Given the description of an element on the screen output the (x, y) to click on. 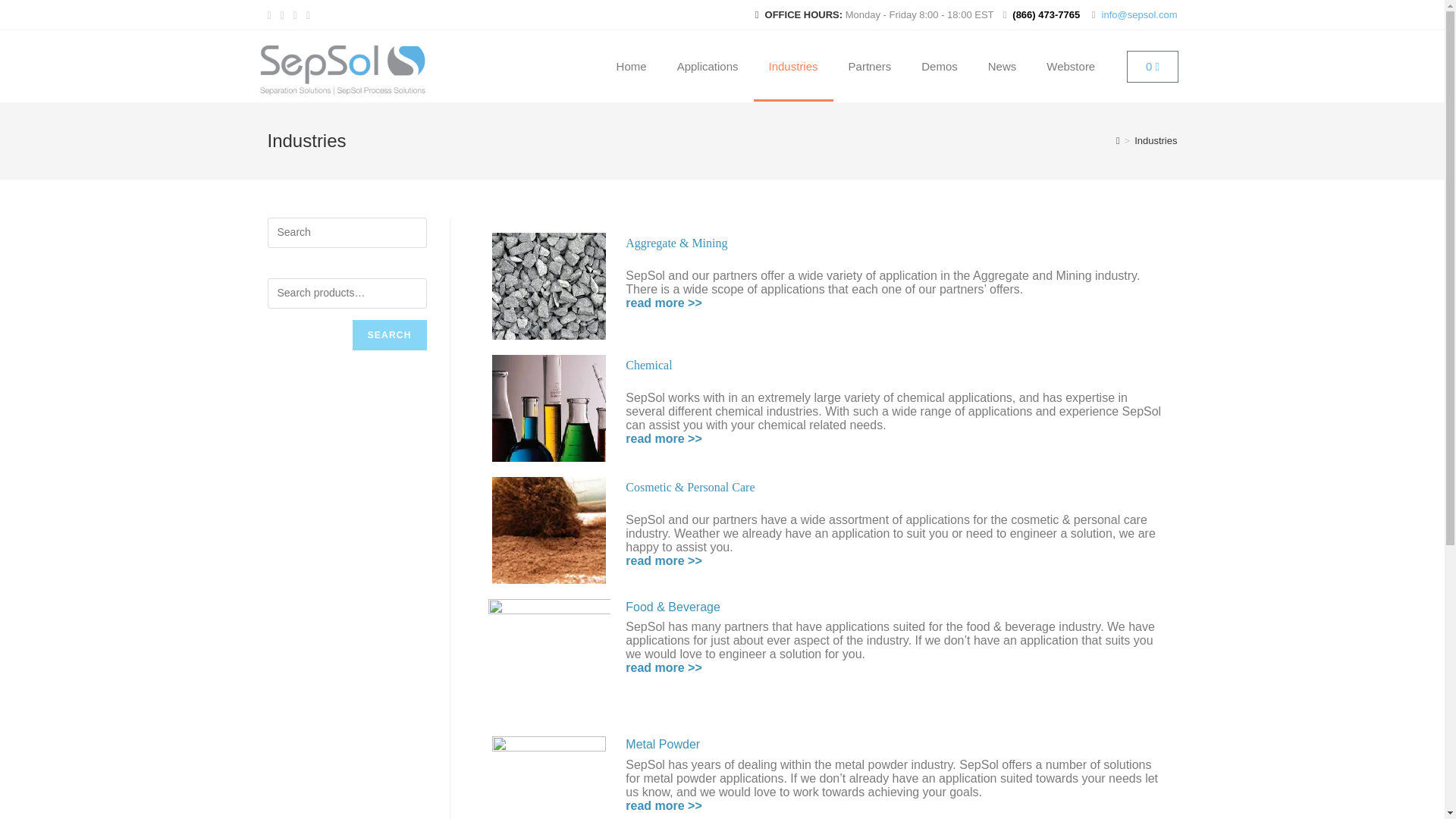
Applications (708, 66)
Webstore (1069, 66)
Metal Powder (663, 805)
Demos (938, 66)
Chemical (663, 438)
Industries (793, 66)
Chemical (648, 364)
Partners (869, 66)
Metal Powder (663, 744)
